Given the description of an element on the screen output the (x, y) to click on. 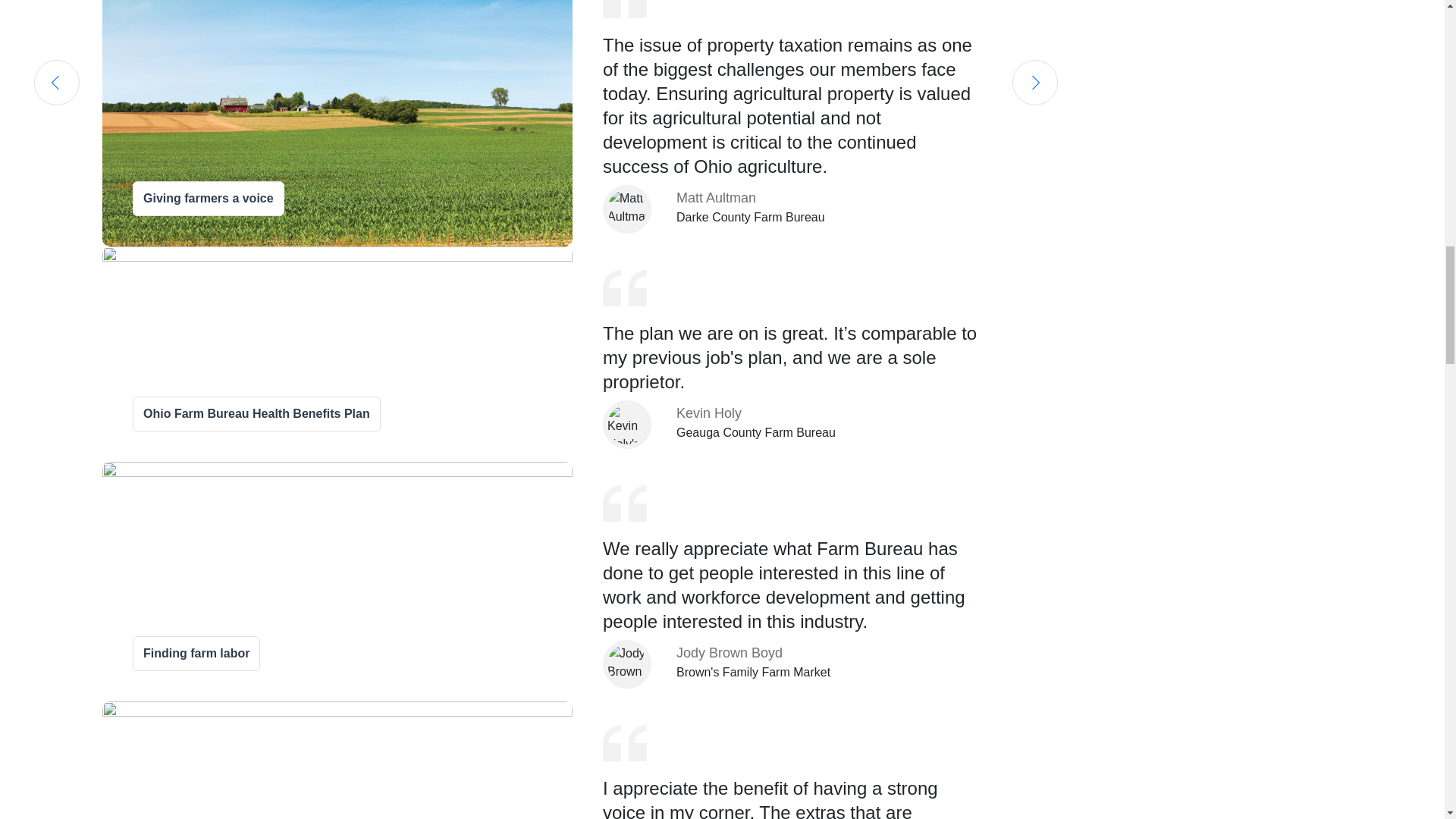
Ohio Farm Bureau Health Benefits Plan (256, 413)
Finding farm labor (196, 653)
Giving farmers a voice (207, 198)
